Given the description of an element on the screen output the (x, y) to click on. 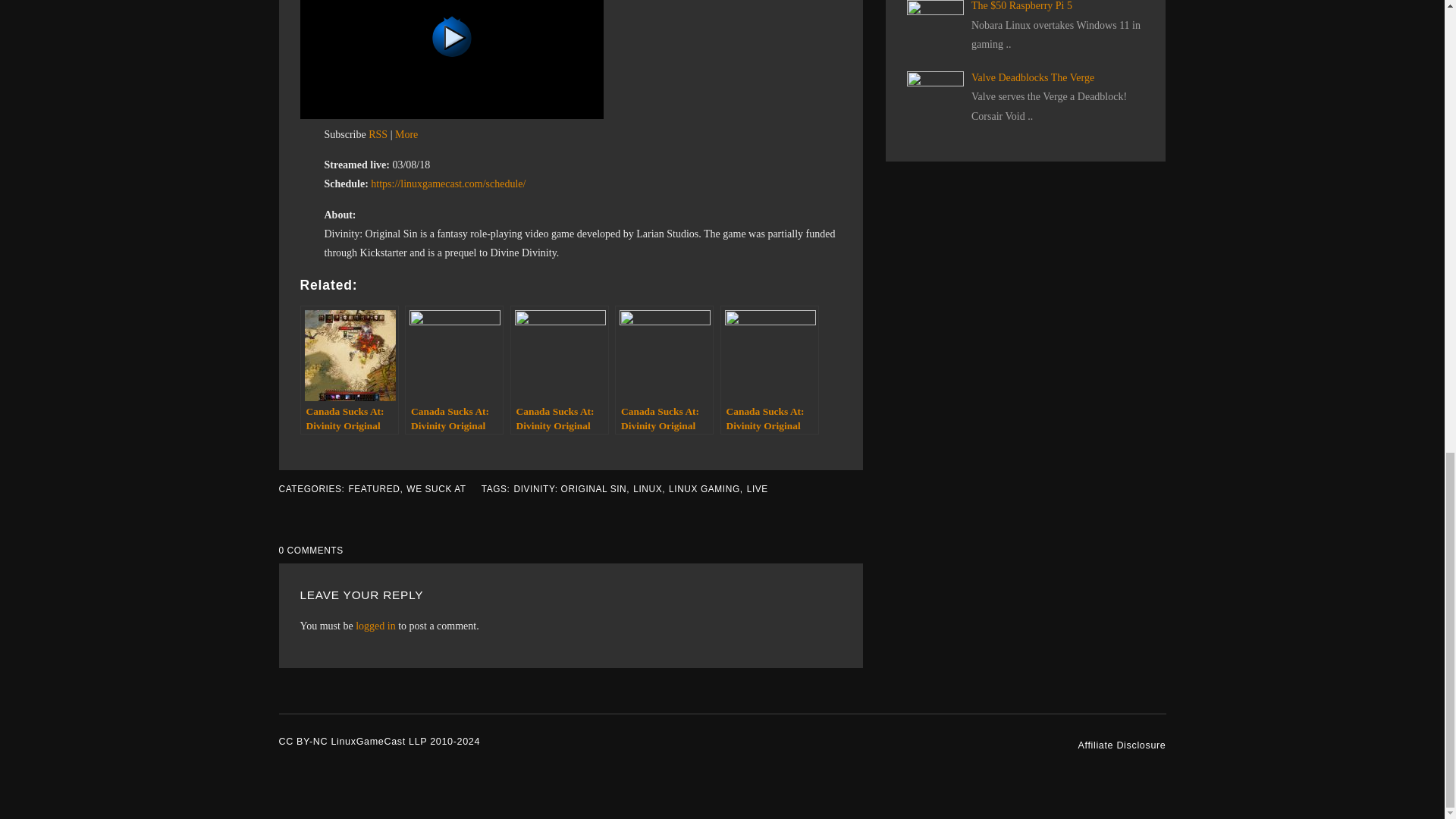
Play (451, 115)
Play (451, 59)
More (405, 134)
Subscribe via RSS (377, 134)
Play (451, 35)
RSS (377, 134)
More (405, 134)
